Given the description of an element on the screen output the (x, y) to click on. 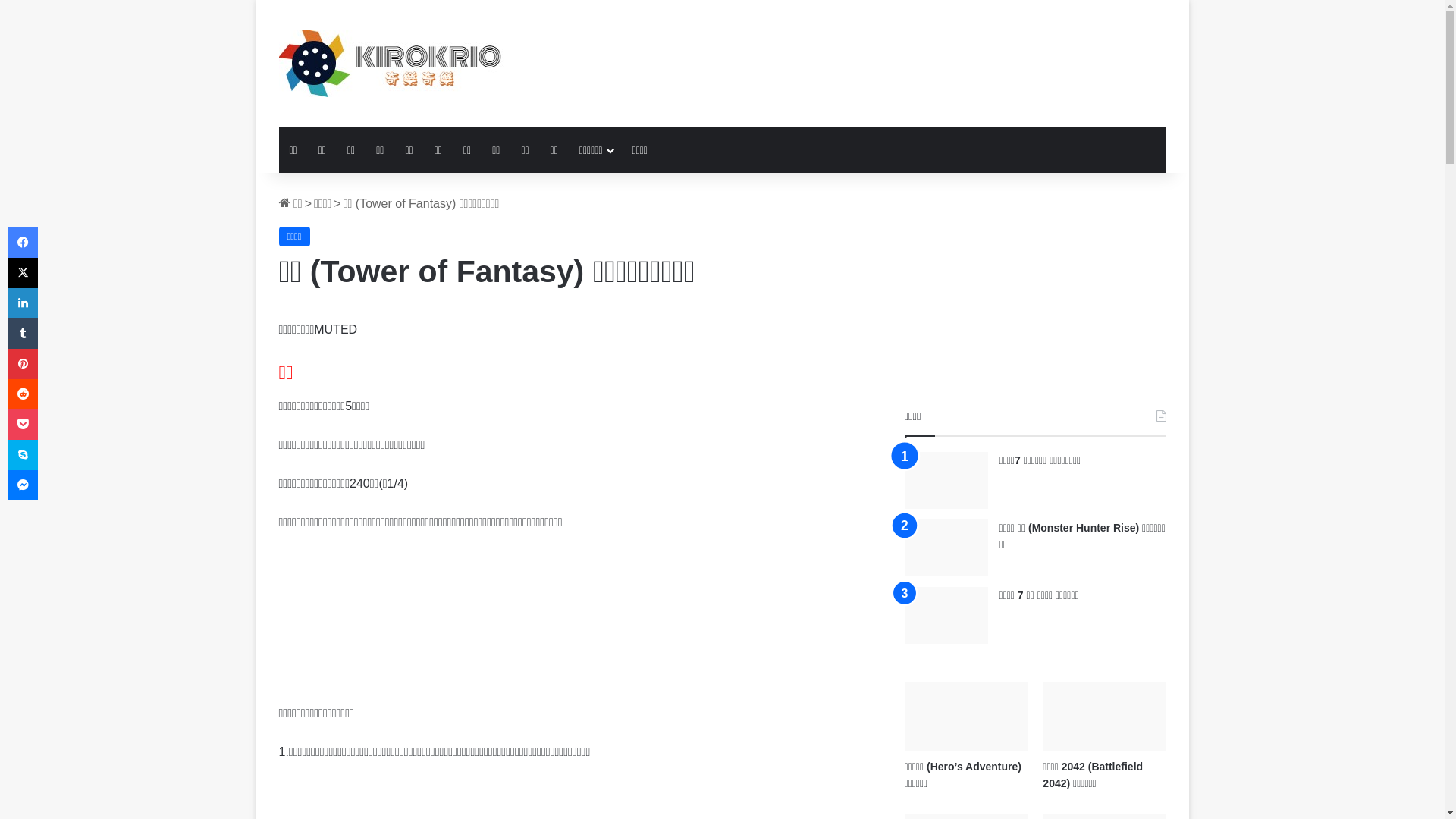
Advertisement Element type: hover (1035, 301)
Advertisement Element type: hover (574, 625)
Skype Element type: text (22, 454)
Advertisement Element type: hover (873, 49)
Tumblr Element type: text (22, 333)
X Element type: text (22, 272)
Reddit Element type: text (22, 394)
Facebook Element type: text (22, 242)
LinkedIn Element type: text (22, 303)
Pocket Element type: text (22, 424)
Pinterest Element type: text (22, 363)
Messenger Element type: text (22, 485)
